Given the description of an element on the screen output the (x, y) to click on. 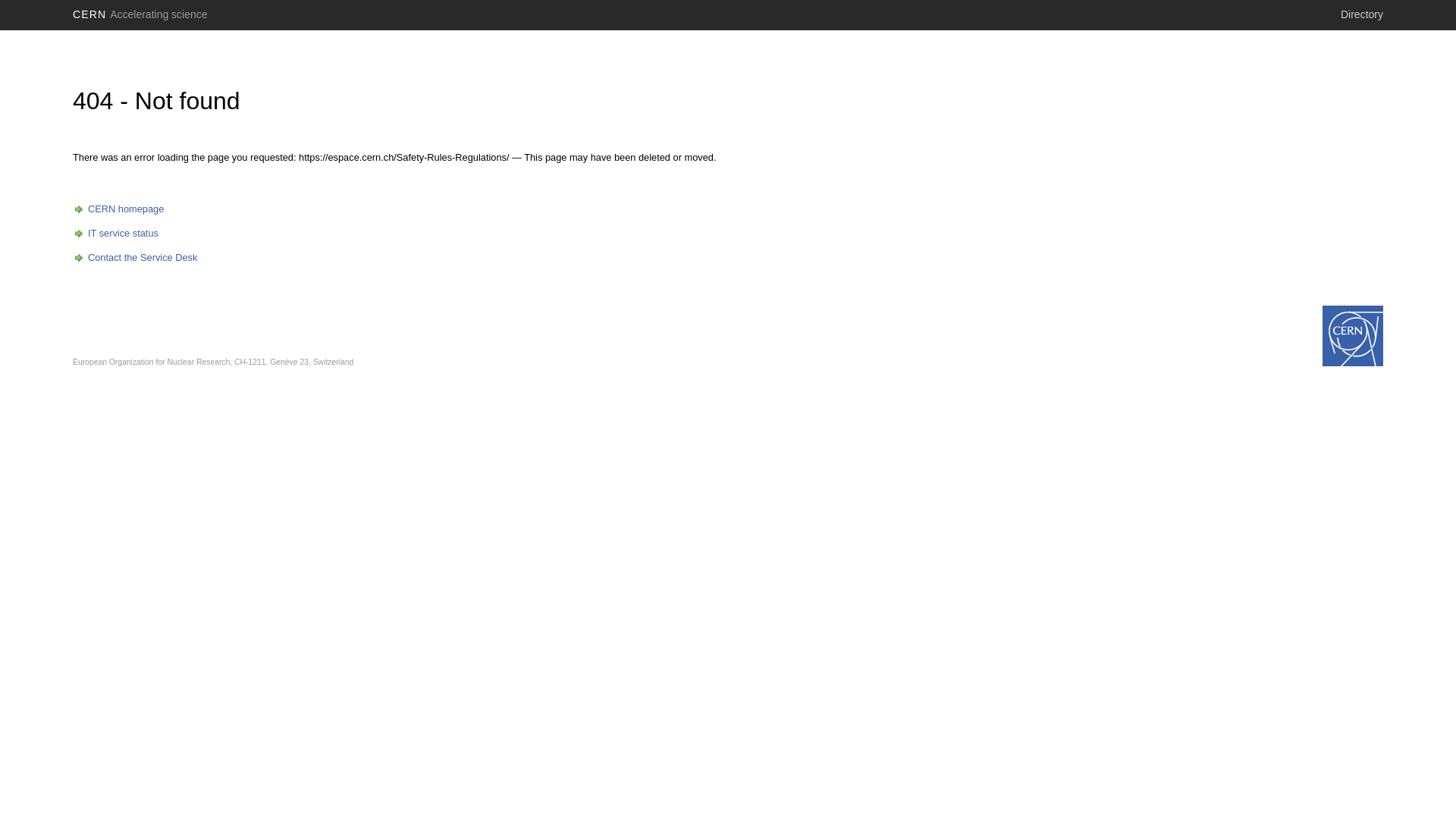
Contact the Service Desk Element type: text (134, 257)
CERN Accelerating science Element type: text (139, 14)
CERN homepage Element type: text (117, 208)
IT service status Element type: text (115, 232)
www.cern.ch Element type: hover (1352, 335)
Directory Element type: text (1361, 14)
